Given the description of an element on the screen output the (x, y) to click on. 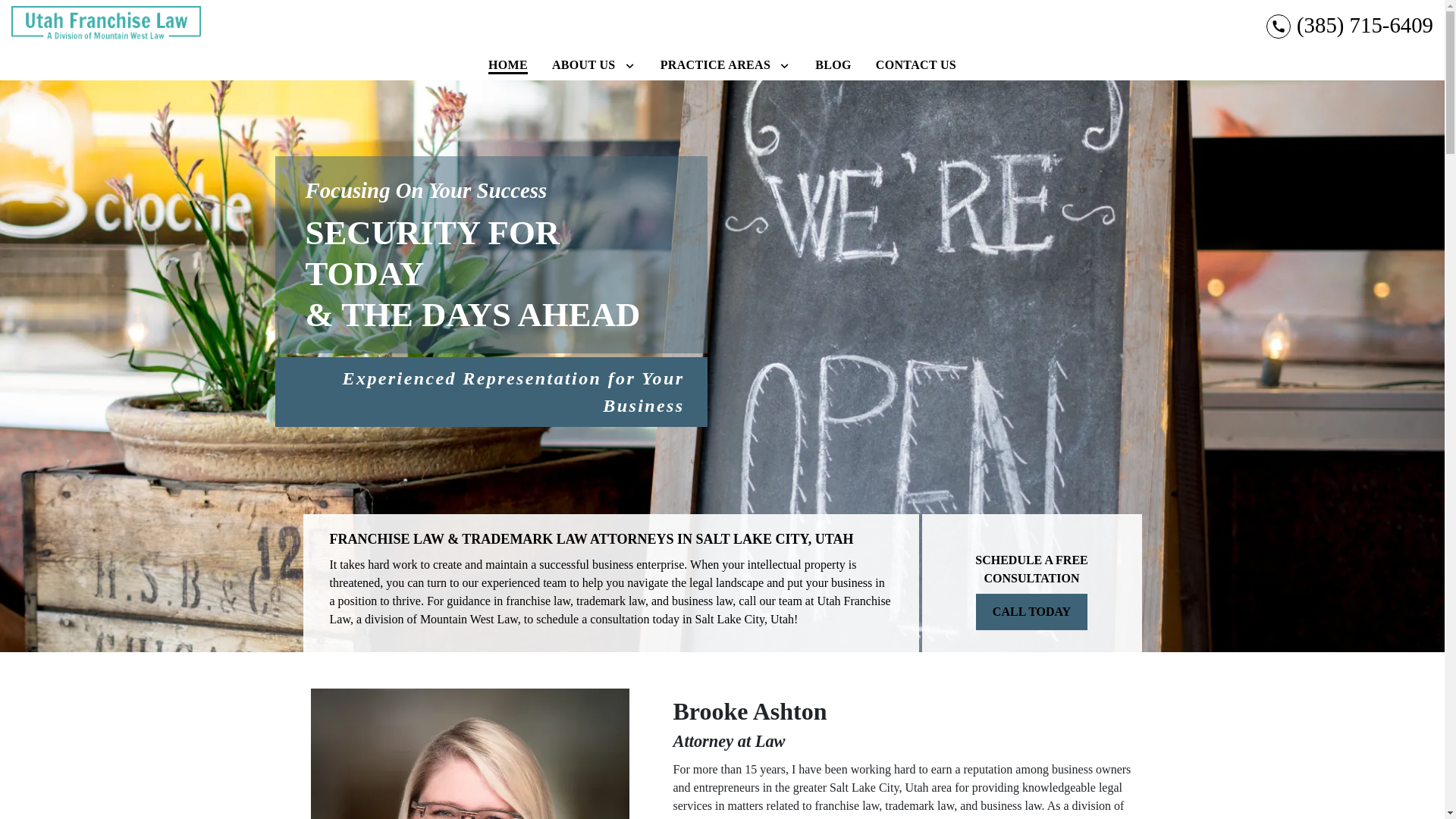
BLOG (833, 64)
ABOUT US (583, 64)
CALL TODAY (1031, 611)
CONTACT US (915, 64)
PRACTICE AREAS (714, 64)
HOME (507, 64)
